Given the description of an element on the screen output the (x, y) to click on. 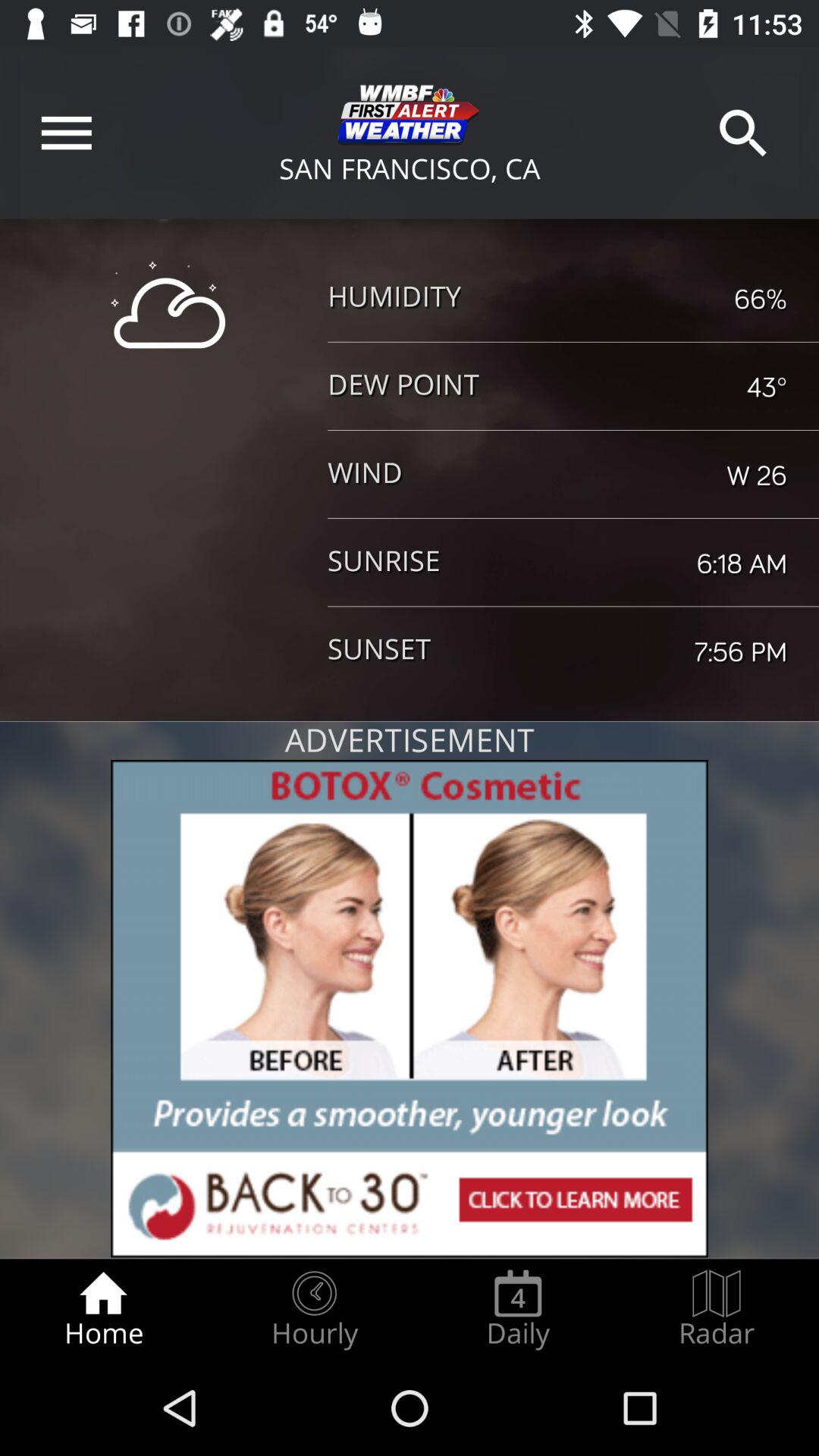
press the item next to the radar item (518, 1309)
